Given the description of an element on the screen output the (x, y) to click on. 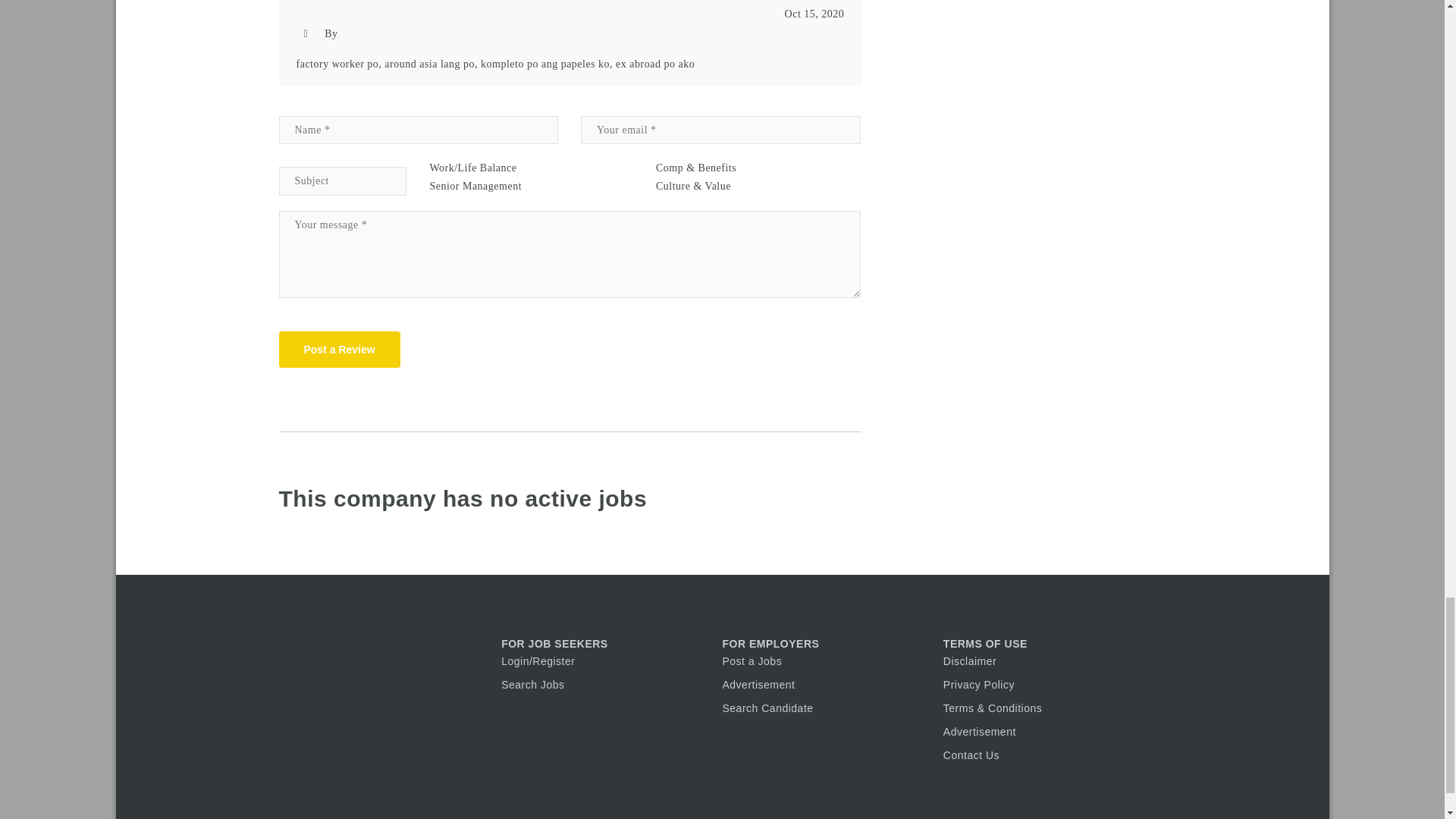
Post a Jobs (751, 661)
Post a Review (339, 349)
Search Candidate (767, 707)
Advertisement (758, 684)
Disclaimer (969, 661)
Search Jobs (532, 684)
Advertisement (979, 731)
Contact Us (970, 755)
Privacy Policy (978, 684)
